Given the description of an element on the screen output the (x, y) to click on. 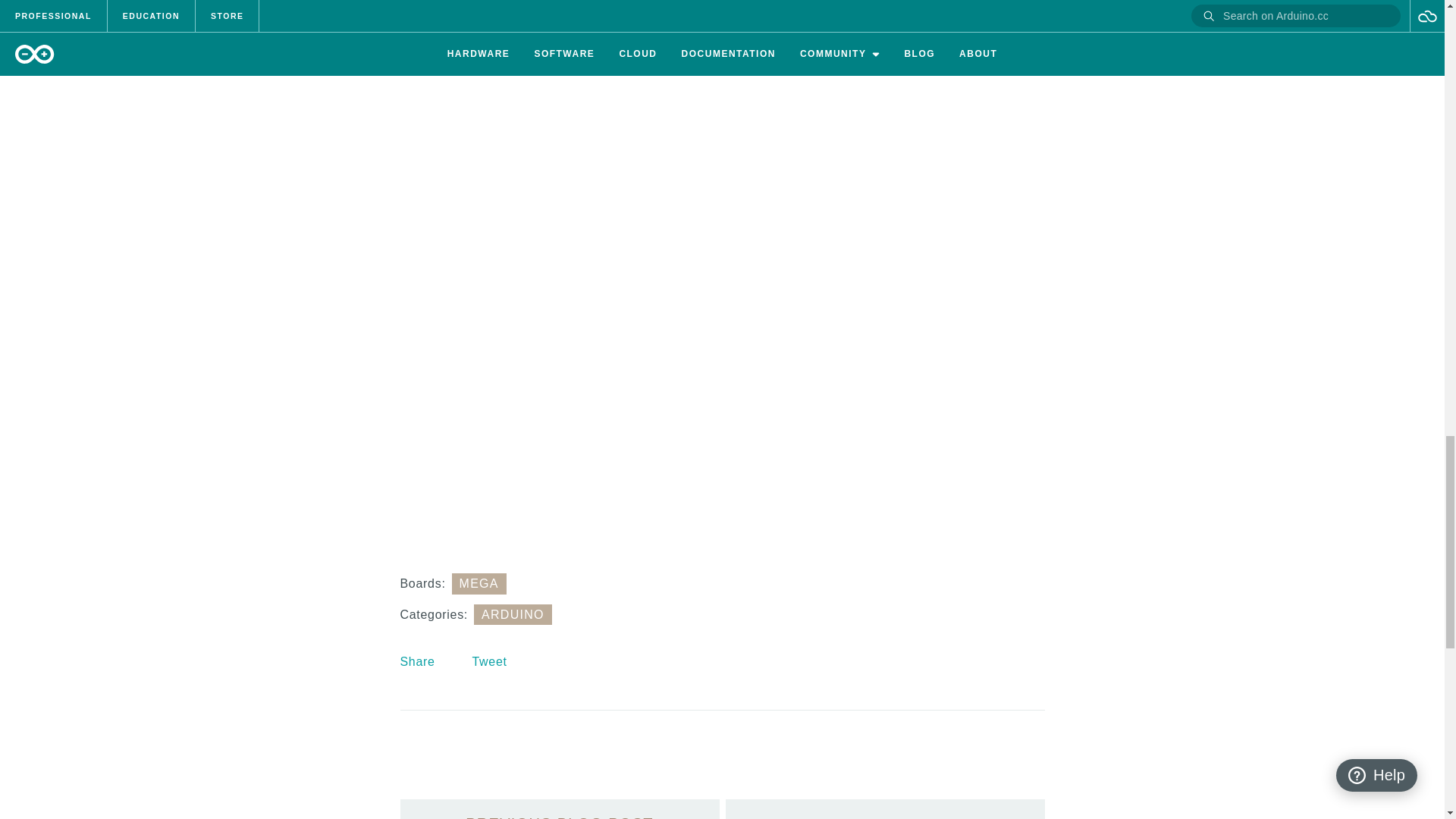
Share (417, 661)
MEGA (479, 583)
Tweet (488, 661)
ARDUINO (512, 614)
Opa is an open source boat bot that navigates the open water (884, 809)
